Given the description of an element on the screen output the (x, y) to click on. 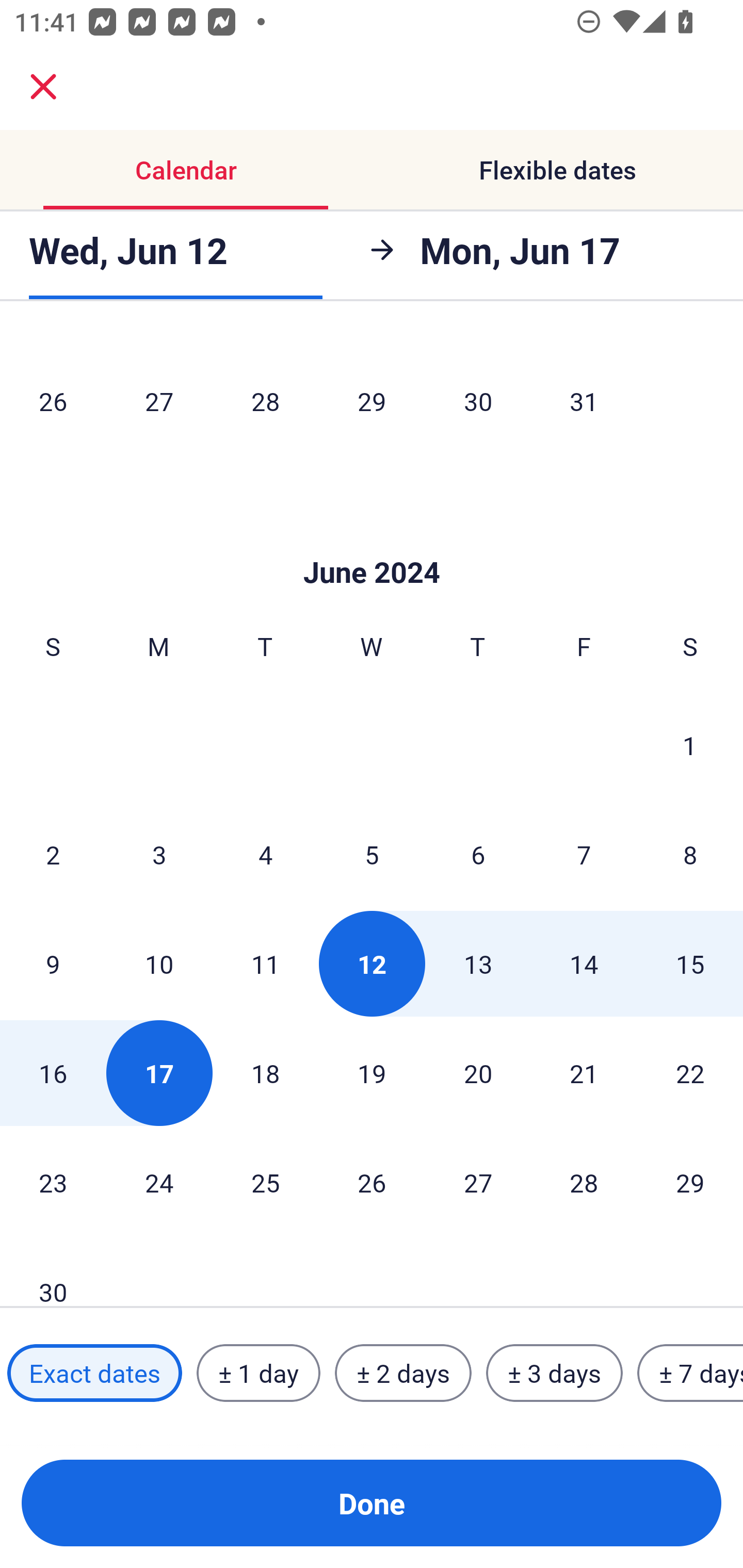
close. (43, 86)
Flexible dates (557, 170)
26 Sunday, May 26, 2024 (53, 400)
27 Monday, May 27, 2024 (159, 400)
28 Tuesday, May 28, 2024 (265, 400)
29 Wednesday, May 29, 2024 (371, 400)
30 Thursday, May 30, 2024 (477, 400)
31 Friday, May 31, 2024 (584, 400)
Skip to Done (371, 541)
1 Saturday, June 1, 2024 (689, 744)
2 Sunday, June 2, 2024 (53, 854)
3 Monday, June 3, 2024 (159, 854)
4 Tuesday, June 4, 2024 (265, 854)
5 Wednesday, June 5, 2024 (371, 854)
6 Thursday, June 6, 2024 (477, 854)
7 Friday, June 7, 2024 (584, 854)
8 Saturday, June 8, 2024 (690, 854)
9 Sunday, June 9, 2024 (53, 963)
10 Monday, June 10, 2024 (159, 963)
11 Tuesday, June 11, 2024 (265, 963)
18 Tuesday, June 18, 2024 (265, 1072)
19 Wednesday, June 19, 2024 (371, 1072)
20 Thursday, June 20, 2024 (477, 1072)
21 Friday, June 21, 2024 (584, 1072)
22 Saturday, June 22, 2024 (690, 1072)
23 Sunday, June 23, 2024 (53, 1181)
24 Monday, June 24, 2024 (159, 1181)
25 Tuesday, June 25, 2024 (265, 1181)
26 Wednesday, June 26, 2024 (371, 1181)
27 Thursday, June 27, 2024 (477, 1181)
28 Friday, June 28, 2024 (584, 1181)
29 Saturday, June 29, 2024 (690, 1181)
30 Sunday, June 30, 2024 (53, 1272)
Exact dates (94, 1372)
± 1 day (258, 1372)
± 2 days (403, 1372)
± 3 days (553, 1372)
± 7 days (690, 1372)
Done (371, 1502)
